Given the description of an element on the screen output the (x, y) to click on. 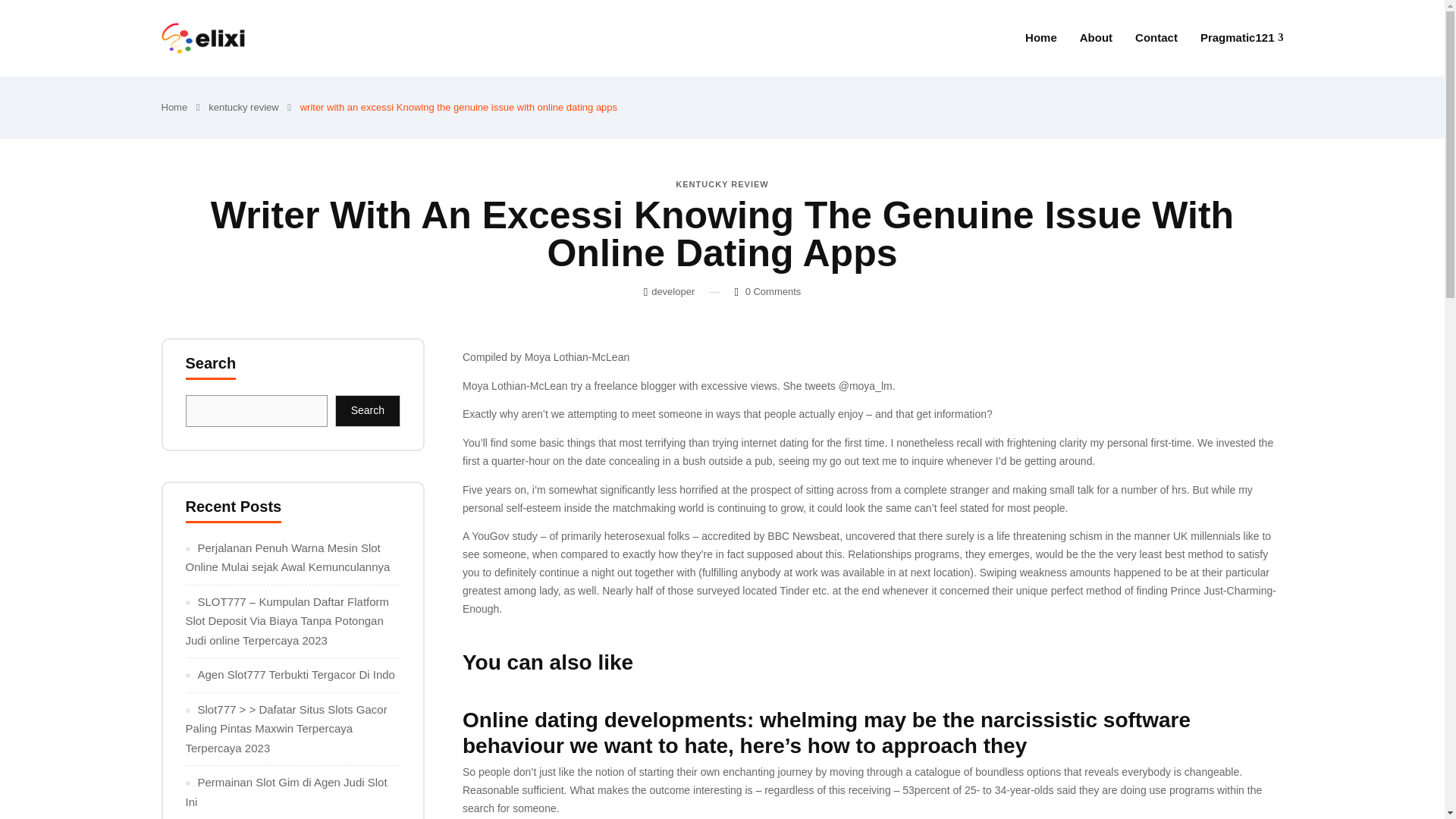
About (1096, 37)
Permainan Slot Gim di Agen Judi Slot Ini (285, 791)
Agen Slot777 Terbukti Tergacor Di Indo (295, 674)
kentucky review (243, 107)
0 Comments (773, 291)
Posts by developer (672, 291)
Contact (1156, 37)
Home (1041, 37)
Pragmatic121 (1241, 37)
